Given the description of an element on the screen output the (x, y) to click on. 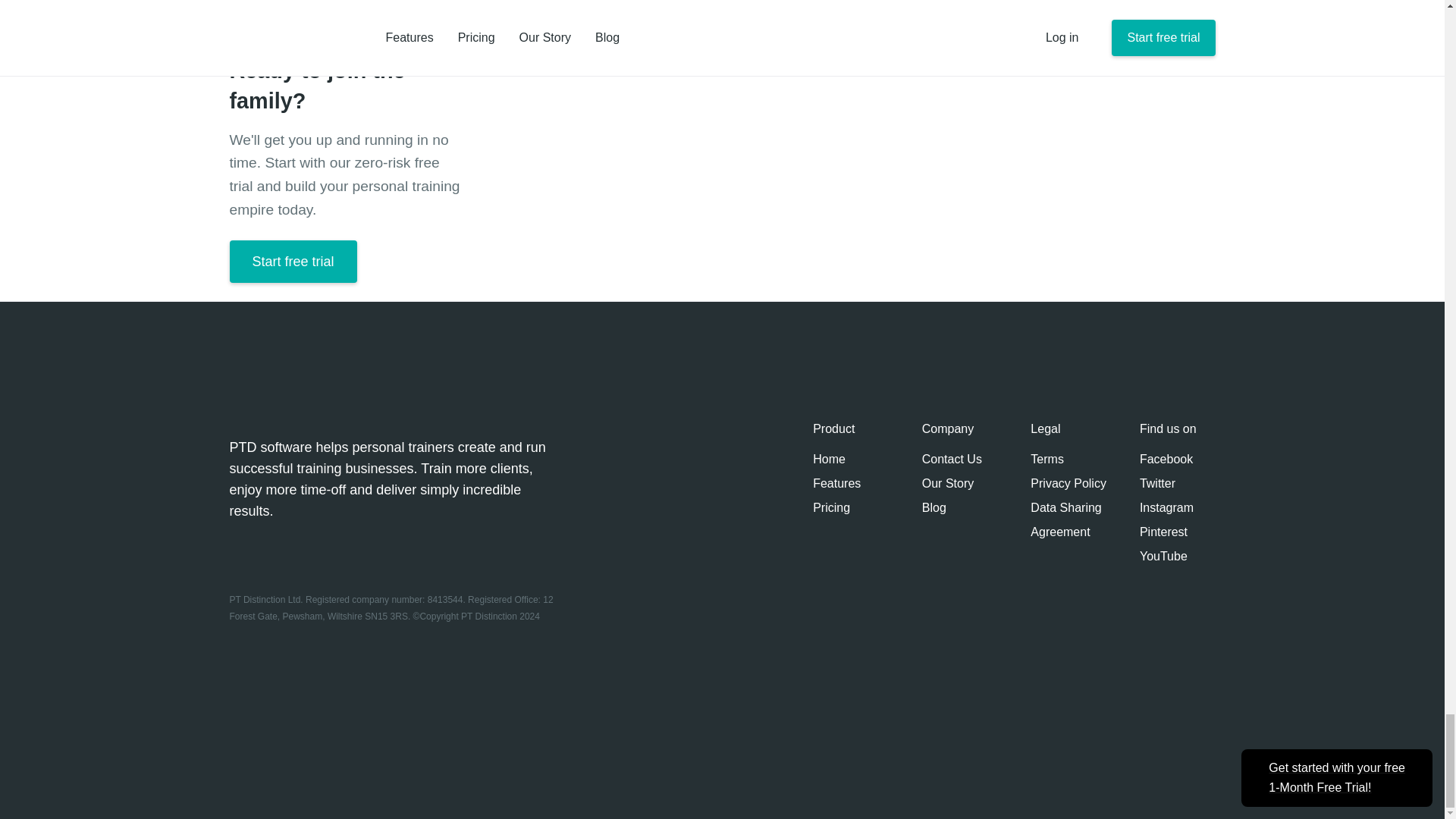
Home (828, 459)
Pricing (831, 507)
Features (836, 483)
Start free trial (292, 261)
